Given the description of an element on the screen output the (x, y) to click on. 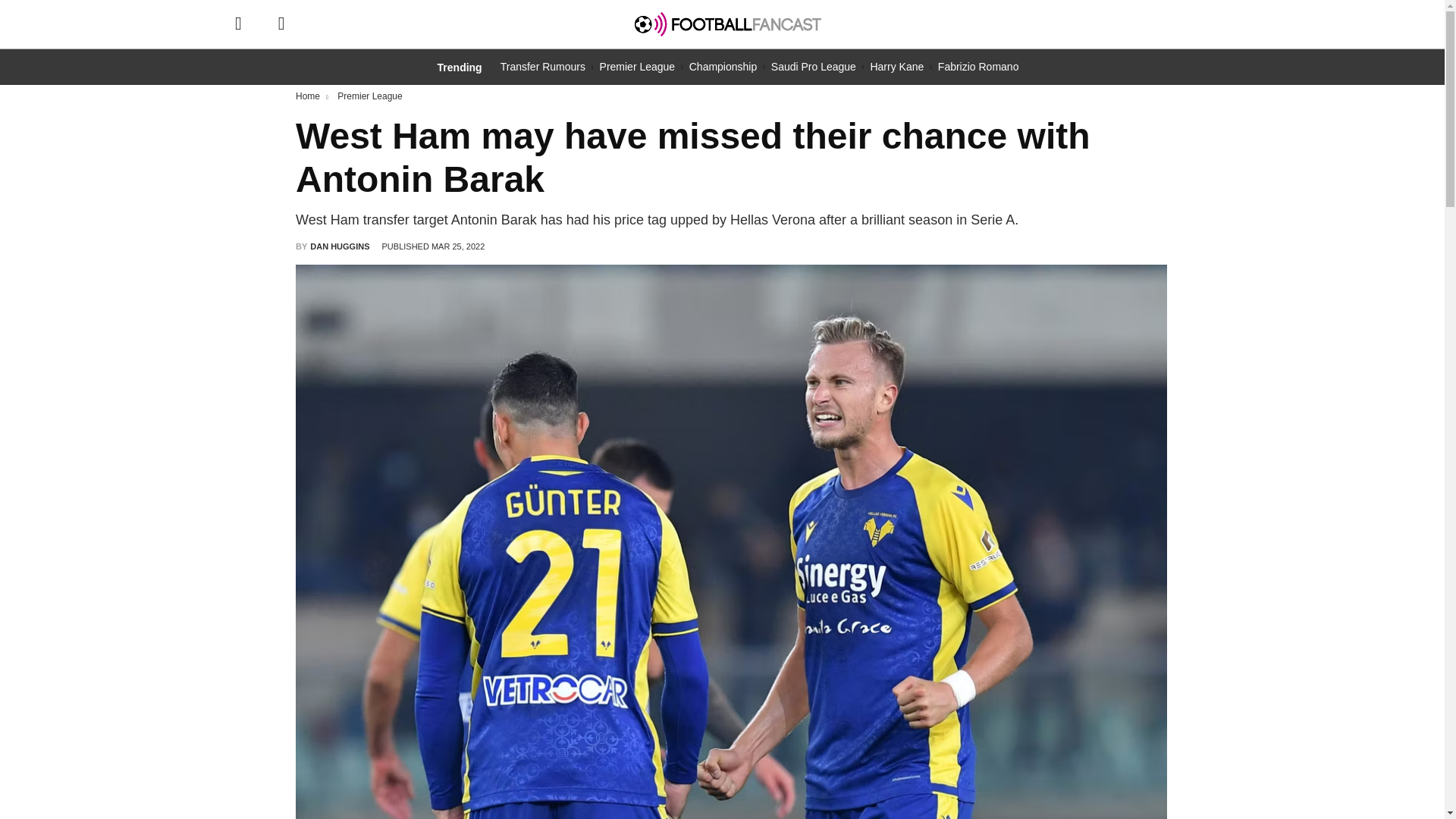
Championship (722, 66)
Transfer Rumours (542, 66)
Saudi Pro League (813, 66)
FootballFanCast (727, 24)
Premier League (637, 66)
Fabrizio Romano (978, 66)
Harry Kane (896, 66)
